Given the description of an element on the screen output the (x, y) to click on. 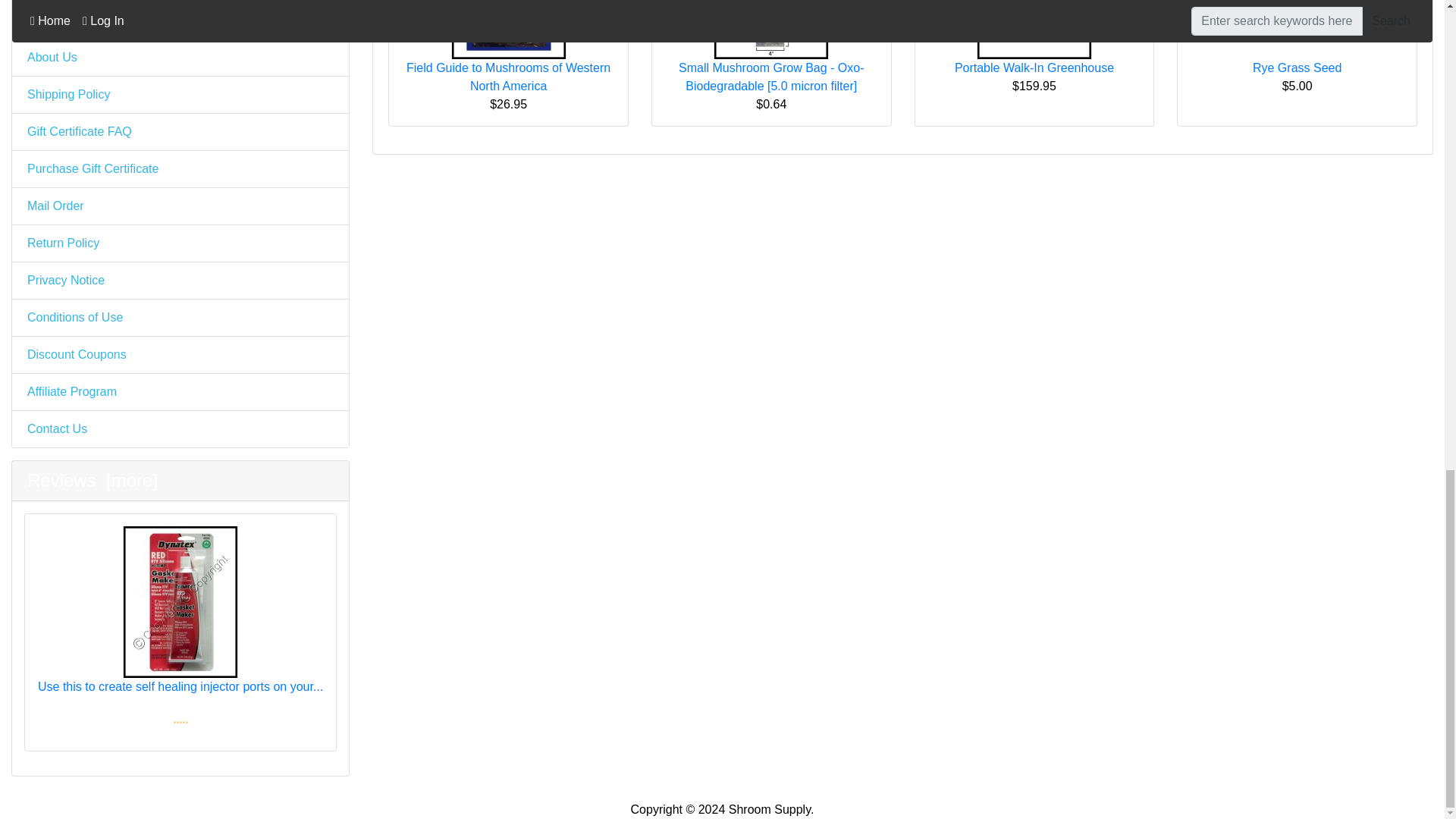
Rye Grass Seed (1297, 29)
Red Hi-Temp RTV Silicone (180, 602)
Field Guide to Mushrooms of Western North America (508, 29)
Portable Walk-In Greenhouse (1033, 29)
